Given the description of an element on the screen output the (x, y) to click on. 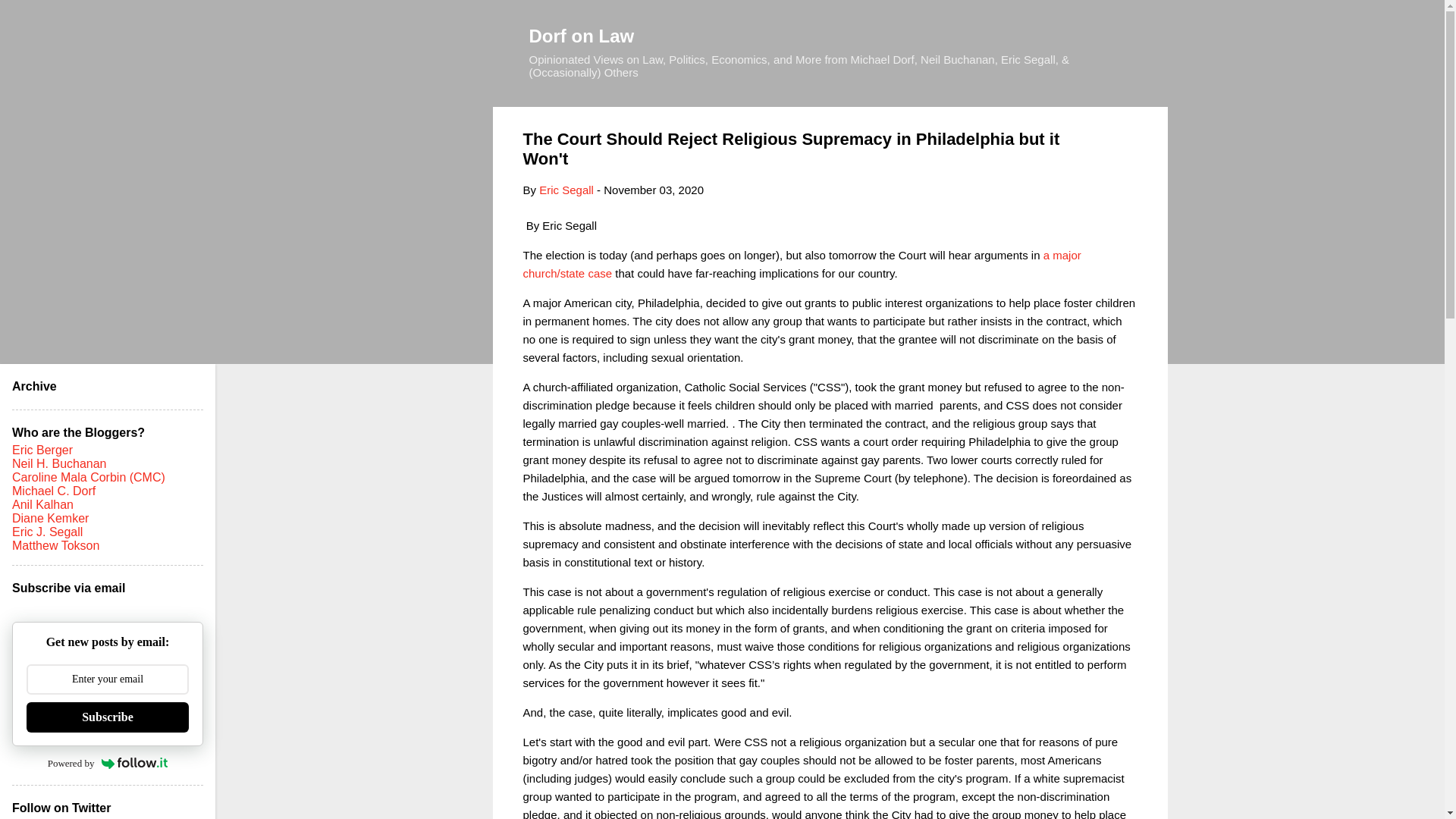
November 03, 2020 (653, 189)
author profile (566, 189)
Dorf on Law (581, 35)
Search (29, 18)
Eric Segall (566, 189)
permanent link (653, 189)
